Given the description of an element on the screen output the (x, y) to click on. 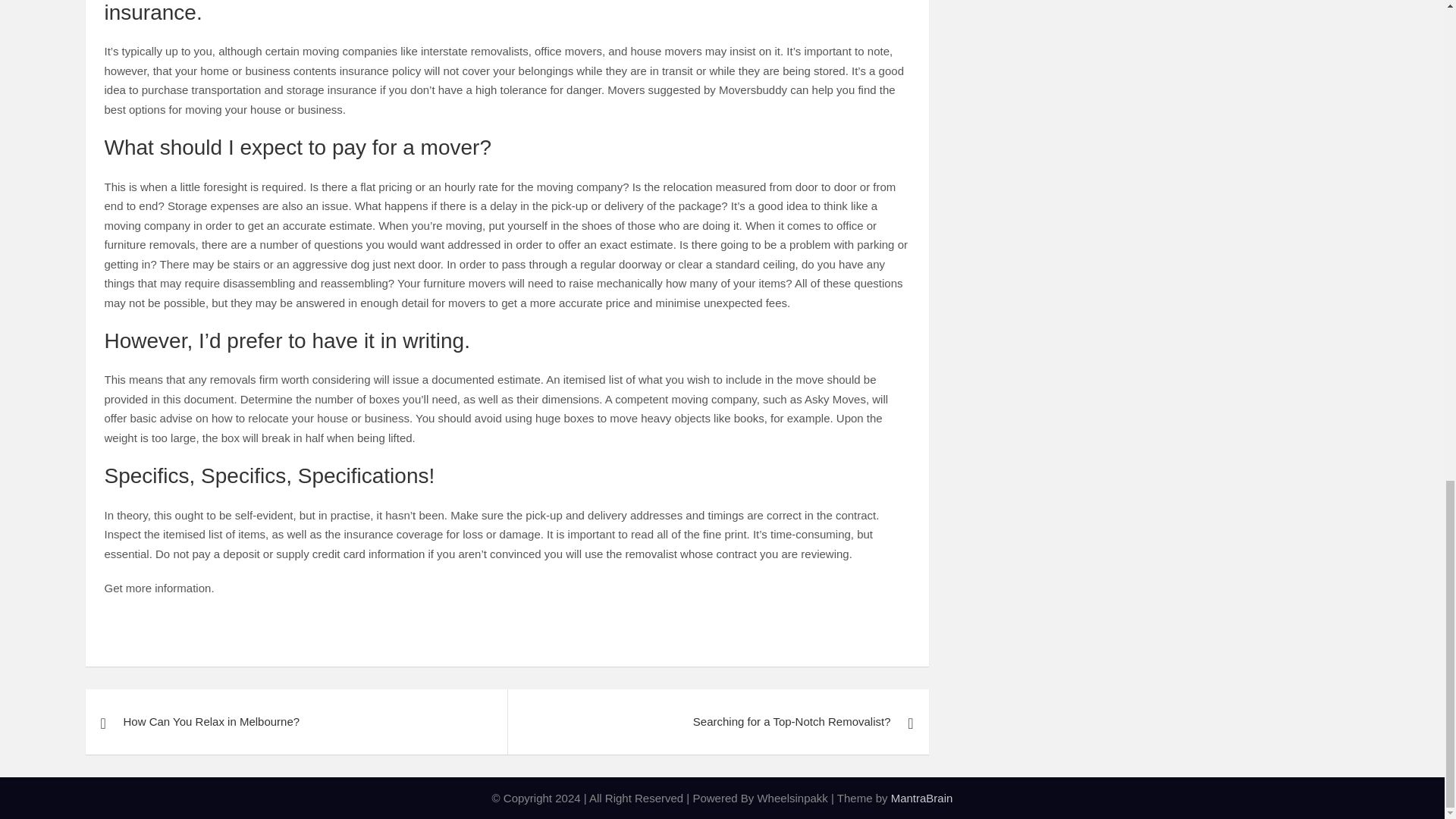
MantraBrain (922, 797)
Searching for a Top-Notch Removalist? (717, 721)
How Can You Relax in Melbourne? (295, 721)
